Given the description of an element on the screen output the (x, y) to click on. 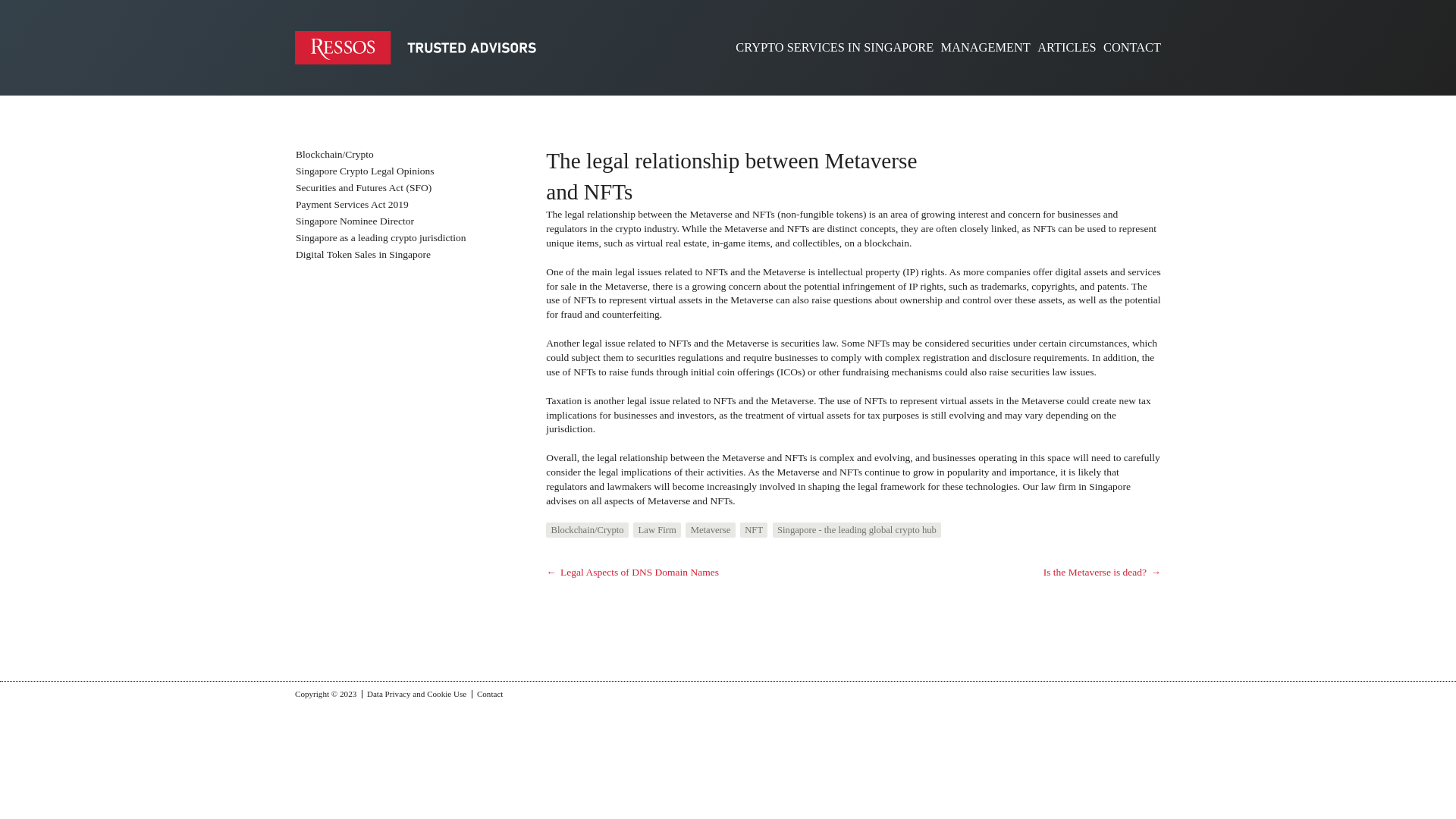
Singapore Nominee Director (354, 220)
Locations and Offices  (834, 47)
CRYPTO SERVICES IN SINGAPORE (834, 47)
Digital Token Sales in Singapore (362, 254)
NFT (753, 529)
MANAGEMENT (985, 47)
Singapore as a leading crypto jurisdiction (380, 237)
Payment Services Act 2019 (352, 204)
ARTICLES (1066, 47)
Singapore - the leading global crypto hub (857, 529)
Legal Aspects of DNS Domain Names (632, 572)
Metaverse (710, 529)
Is the Metaverse is dead? (1101, 572)
CONTACT (1131, 47)
Law Firm (657, 529)
